Given the description of an element on the screen output the (x, y) to click on. 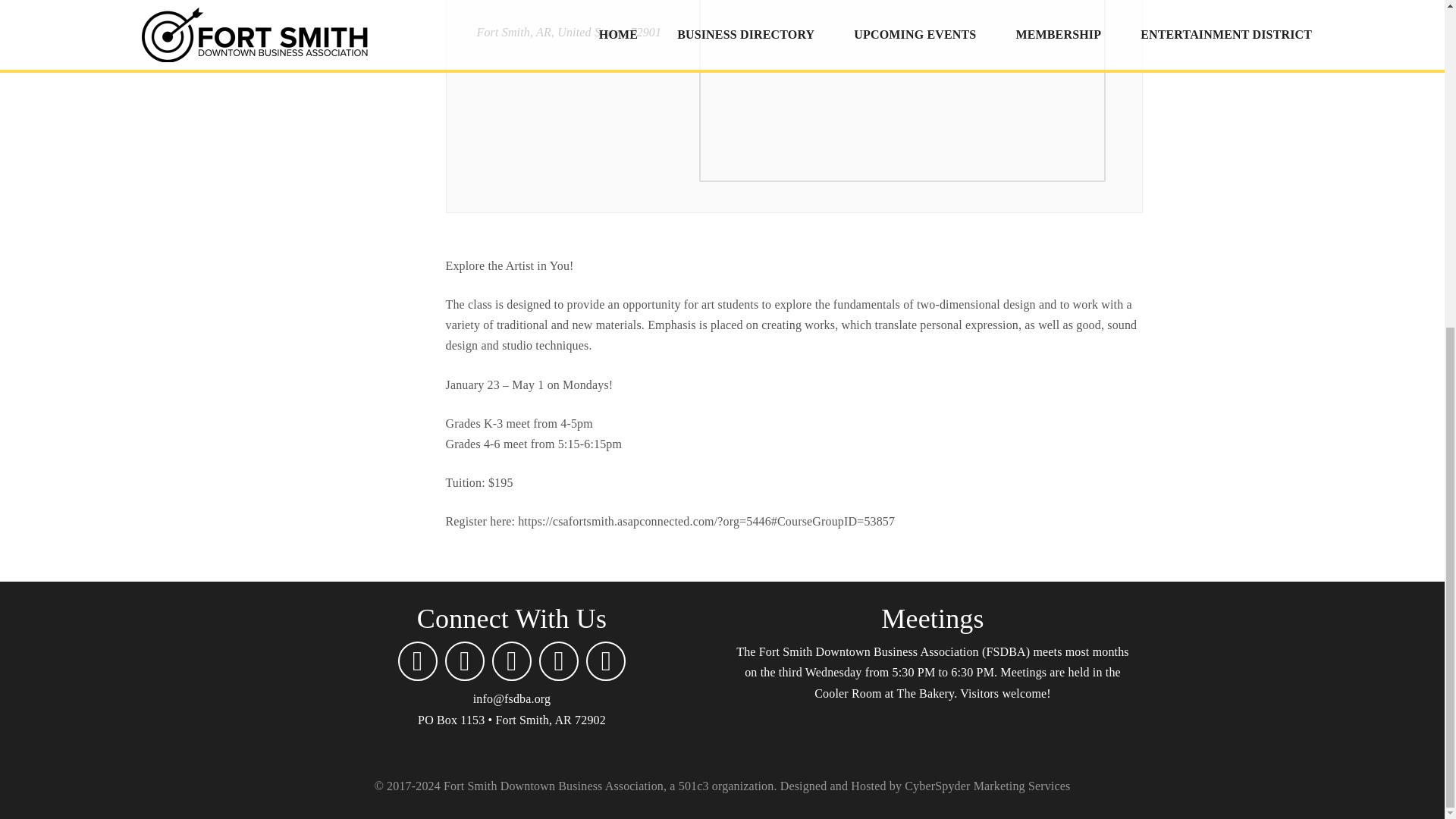
Click to visit now! (987, 785)
Youtube (606, 660)
Twitter (558, 660)
Email (416, 660)
Facebook (464, 660)
Instagram (511, 660)
CyberSpyder Marketing Services (987, 785)
